Given the description of an element on the screen output the (x, y) to click on. 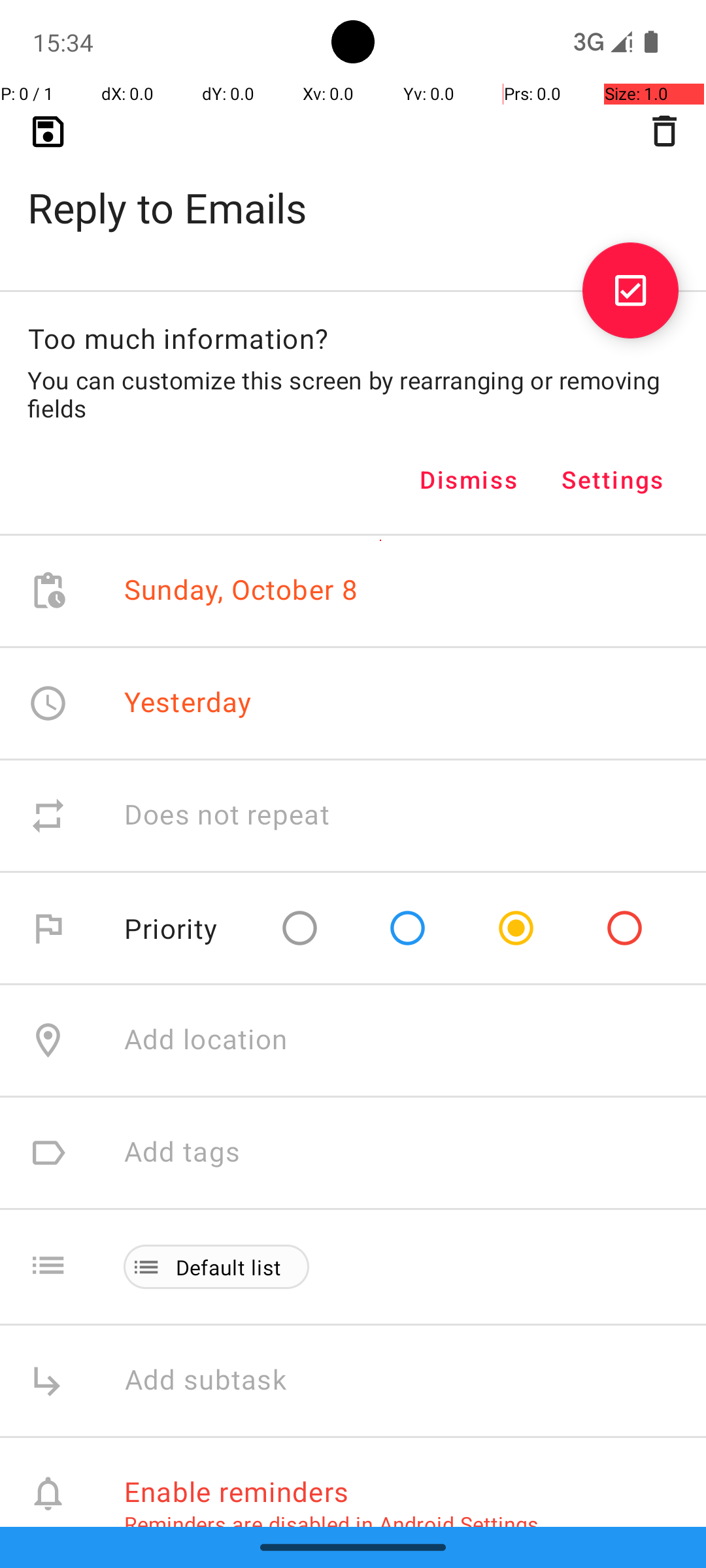
Reply to Emails Element type: android.widget.EditText (353, 186)
Sunday, October 8 Element type: android.widget.TextView (240, 590)
Enable reminders Element type: android.widget.TextView (236, 1490)
Reminders are disabled in Android Settings Element type: android.widget.TextView (331, 1523)
